Given the description of an element on the screen output the (x, y) to click on. 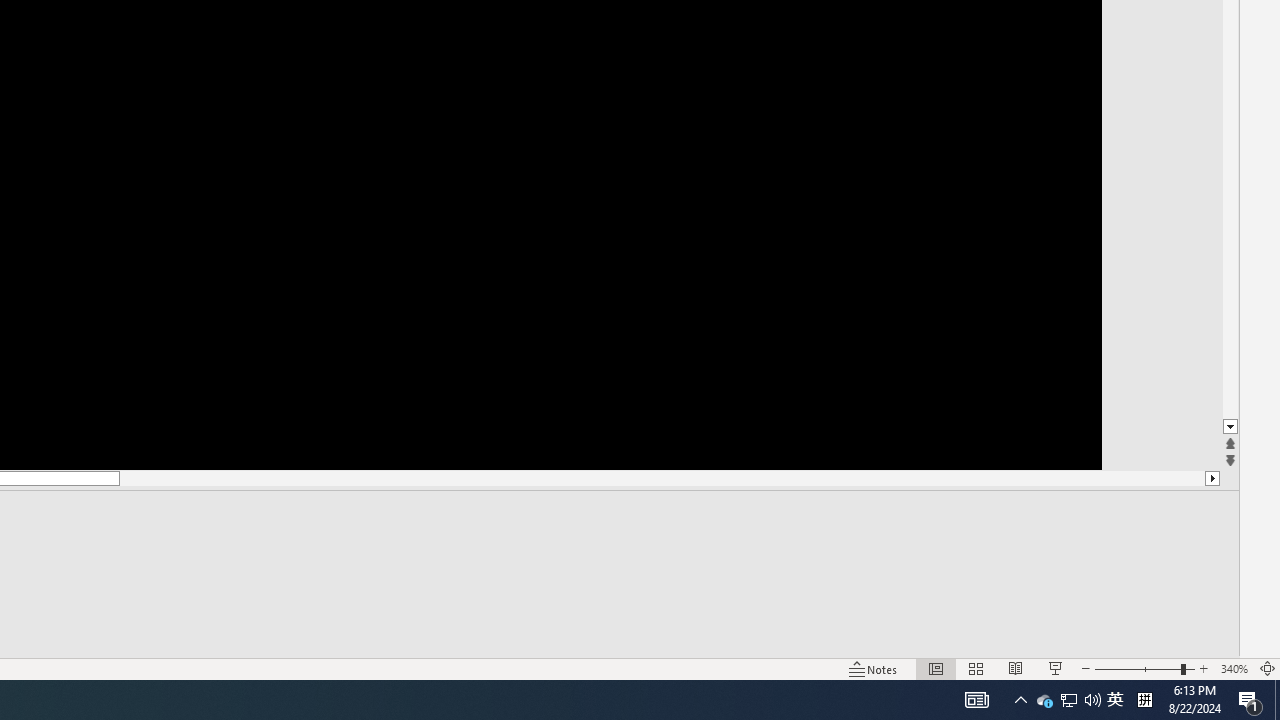
Page down (1230, 277)
Zoom 340% (1234, 668)
Line down (1230, 427)
